Given the description of an element on the screen output the (x, y) to click on. 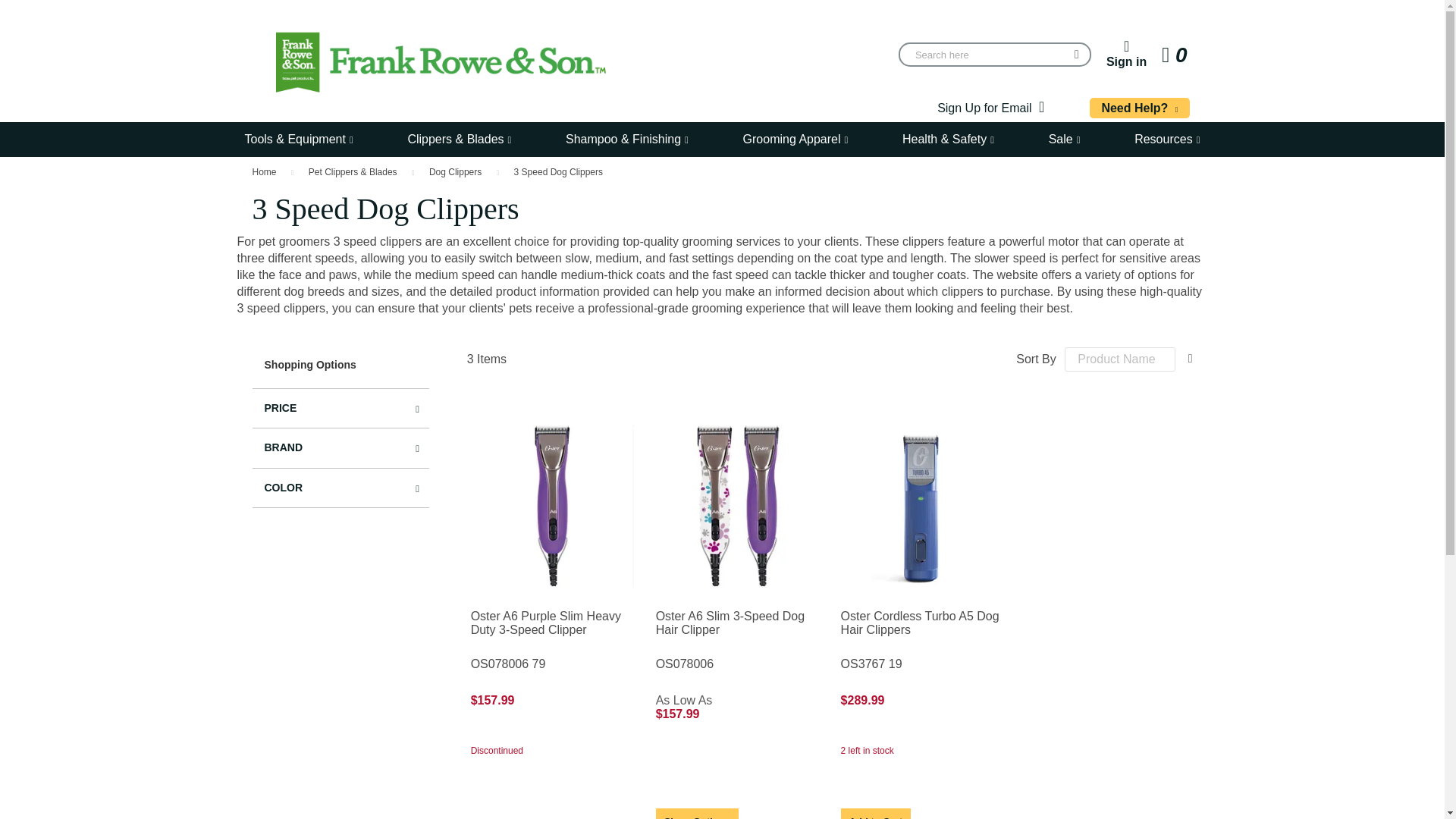
Sign in (1126, 54)
Show Options (1175, 55)
Add to Cart (697, 813)
Need Help? (876, 813)
Go to Home Page (1139, 107)
Sign Up for Email (264, 172)
